Given the description of an element on the screen output the (x, y) to click on. 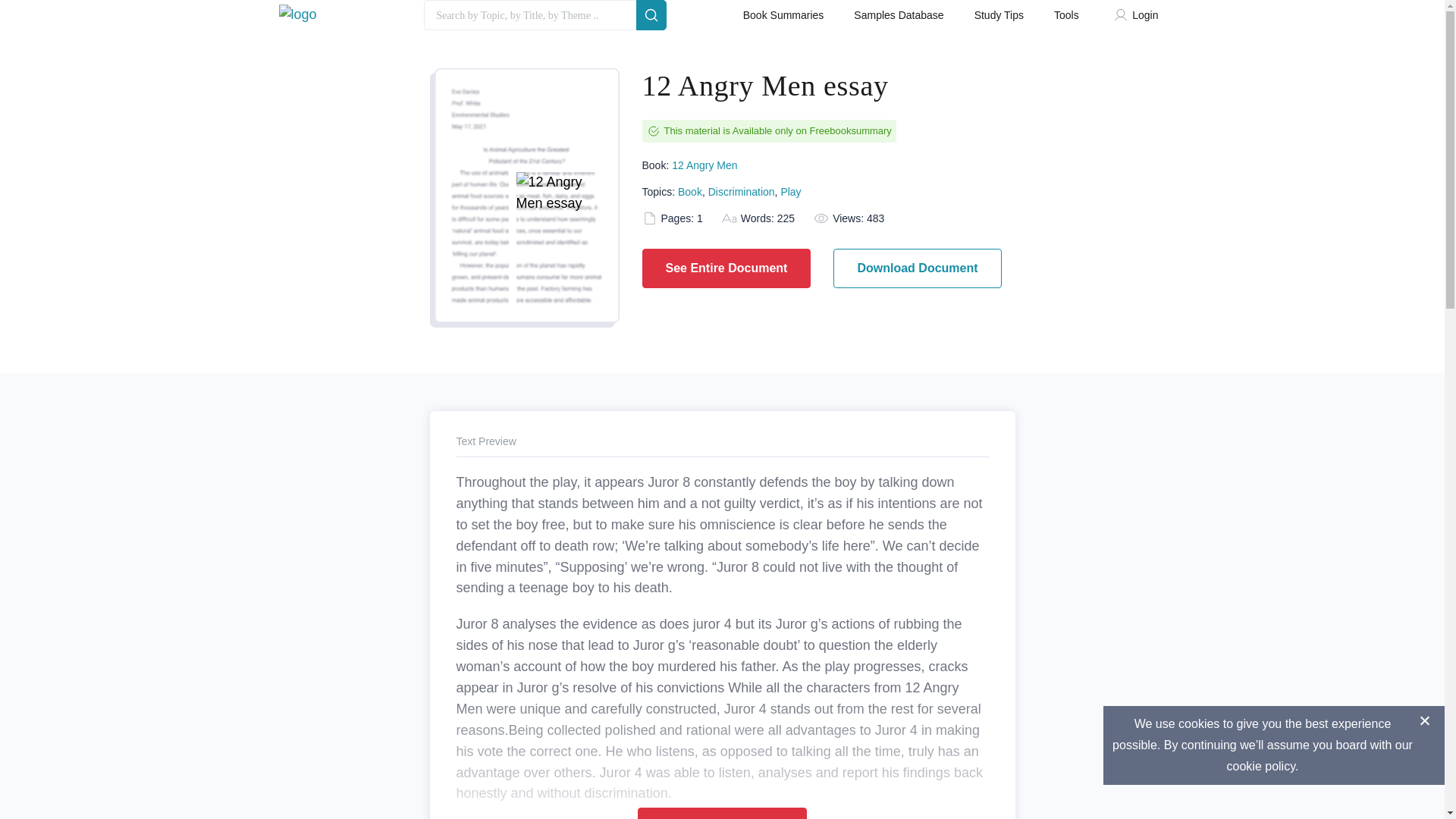
Login (1139, 18)
Book (689, 191)
Tools (1066, 18)
12 Angry Men (703, 164)
Discrimination (740, 191)
Study Tips (998, 18)
Samples Database (897, 18)
Play (790, 191)
Book Summaries (783, 18)
